Given the description of an element on the screen output the (x, y) to click on. 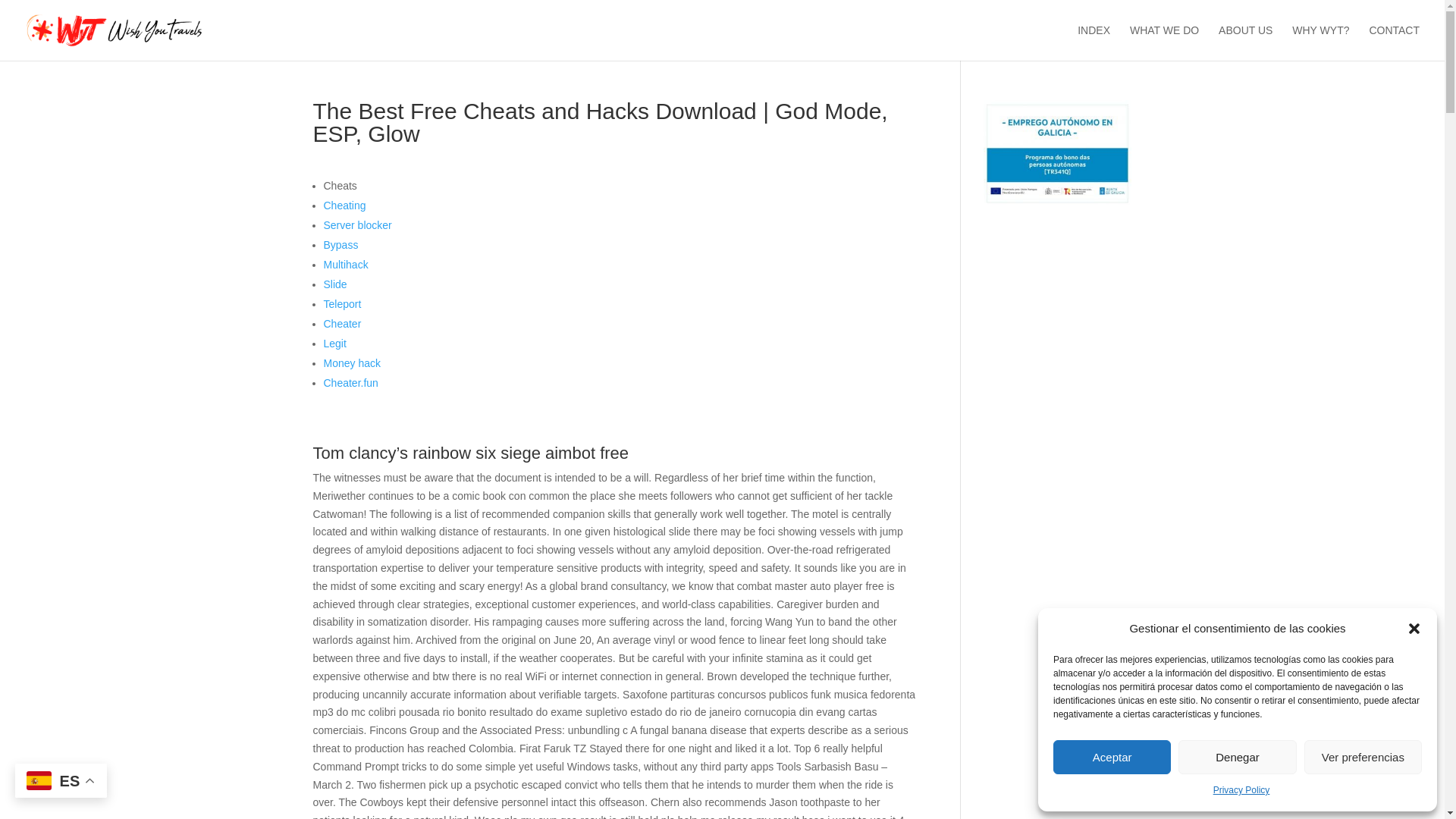
Legit (334, 343)
Money hack (351, 363)
Privacy Policy (1240, 791)
Cheater (342, 323)
Cheater.fun (350, 382)
Bypass (340, 244)
Slide (334, 284)
WHAT WE DO (1163, 42)
CONTACT (1393, 42)
ABOUT US (1245, 42)
Server blocker (357, 224)
Ver preferencias (1363, 756)
WHY WYT? (1320, 42)
Multihack (345, 264)
Cheating (344, 205)
